Given the description of an element on the screen output the (x, y) to click on. 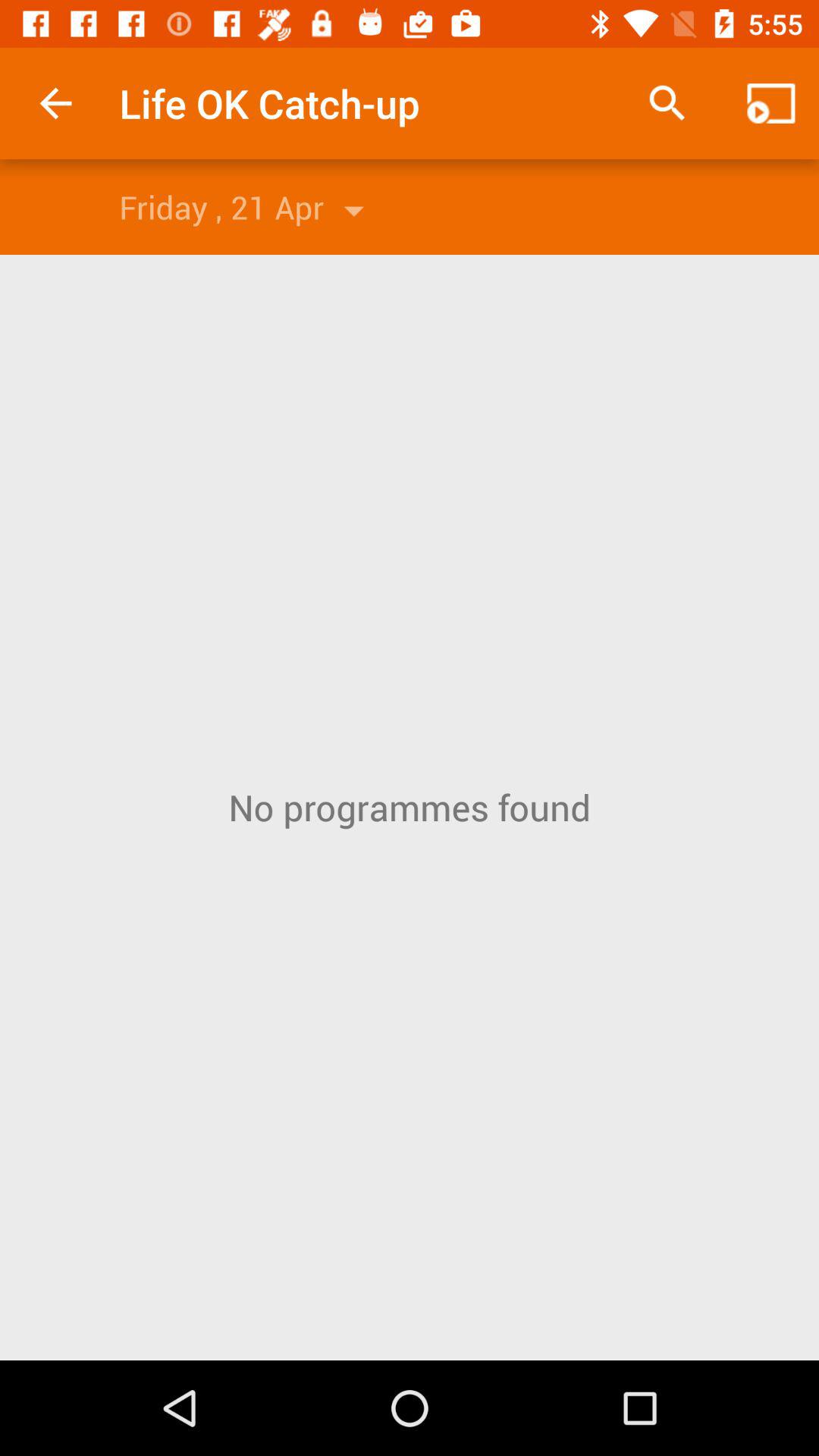
launch item above no programmes found (771, 103)
